Given the description of an element on the screen output the (x, y) to click on. 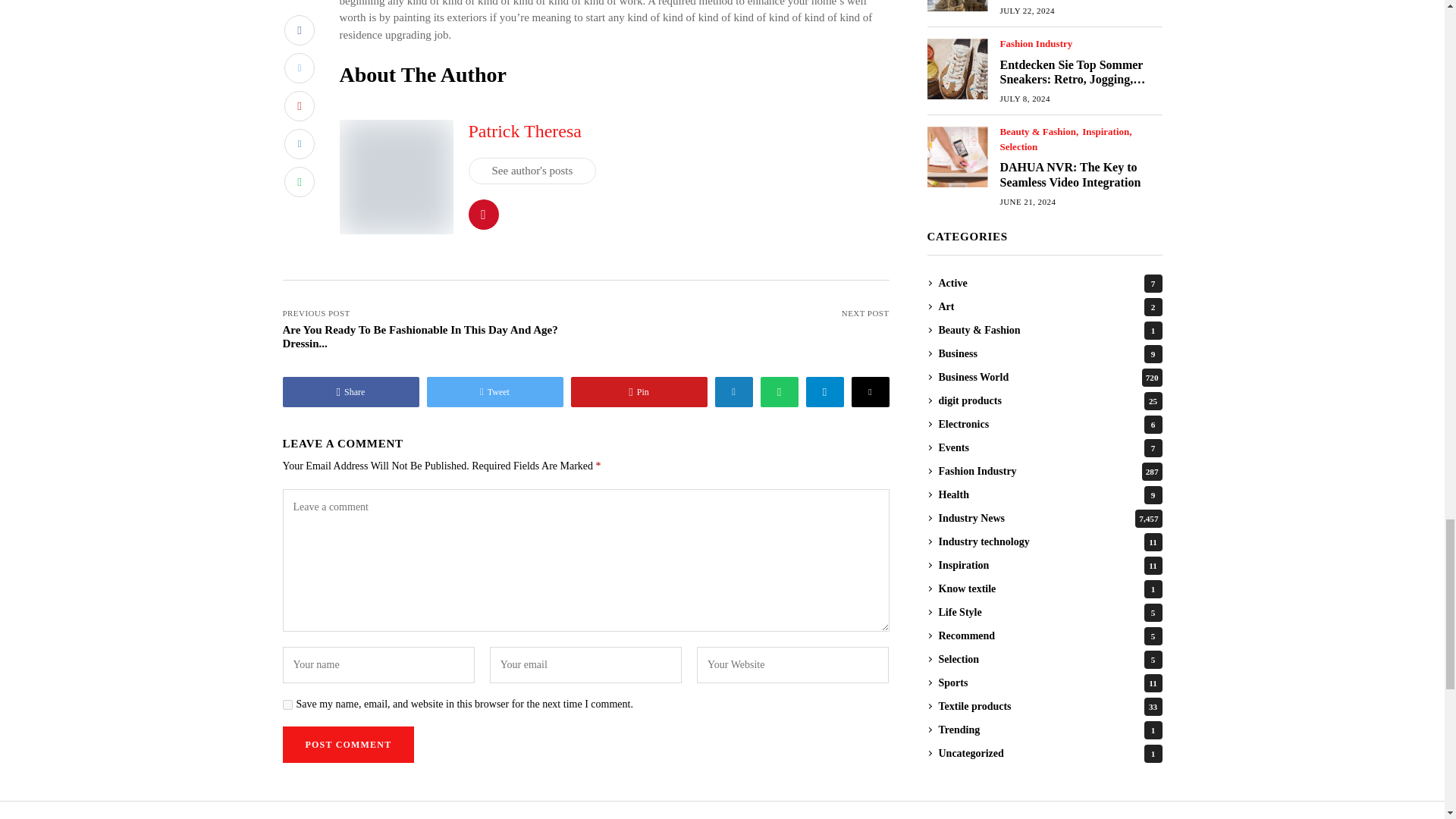
Post Comment (347, 744)
yes (287, 705)
